Given the description of an element on the screen output the (x, y) to click on. 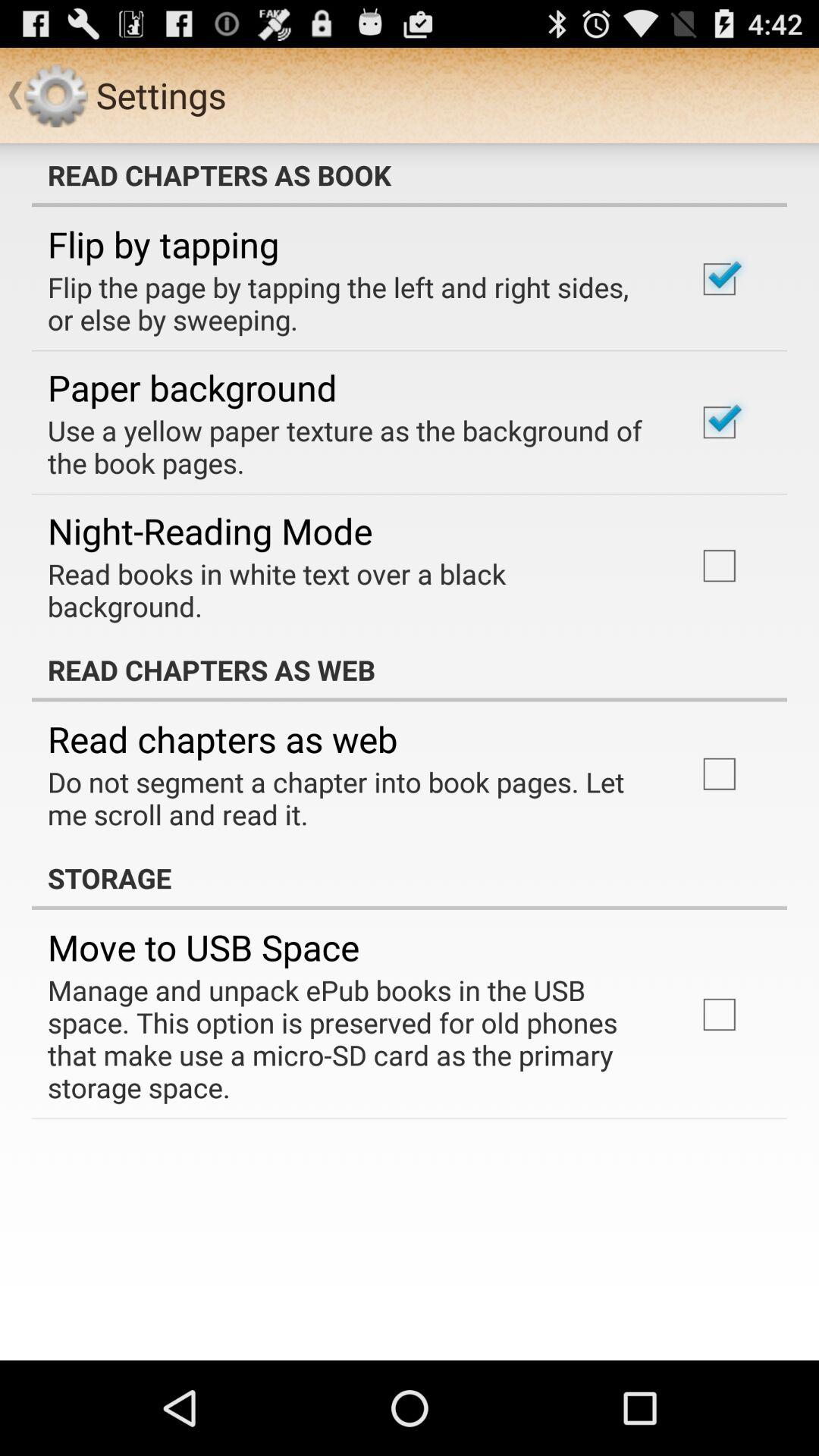
turn off item above the paper background app (351, 303)
